Given the description of an element on the screen output the (x, y) to click on. 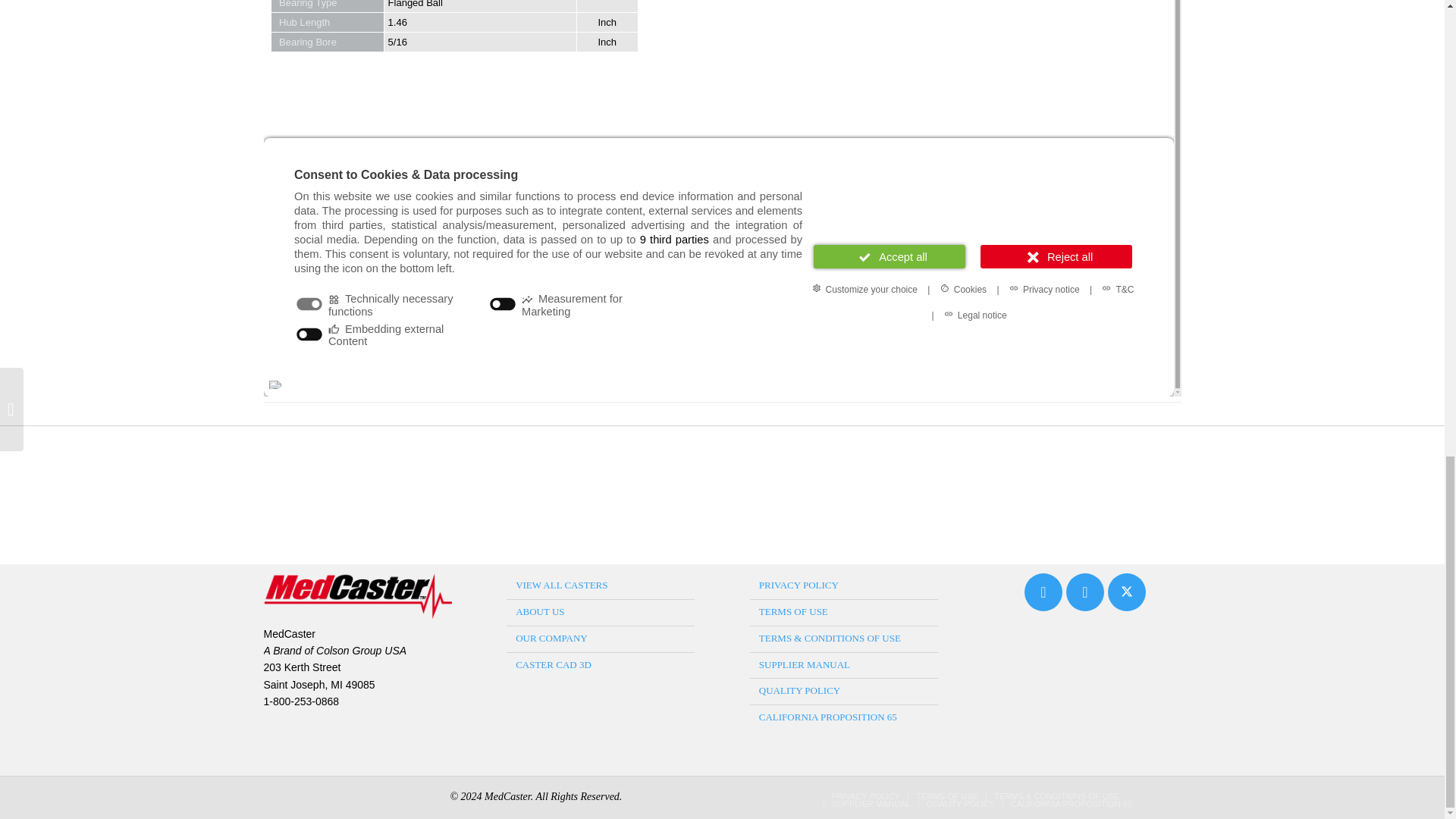
Facebook (1084, 594)
Mail (1043, 594)
Twitter (1126, 594)
